Given the description of an element on the screen output the (x, y) to click on. 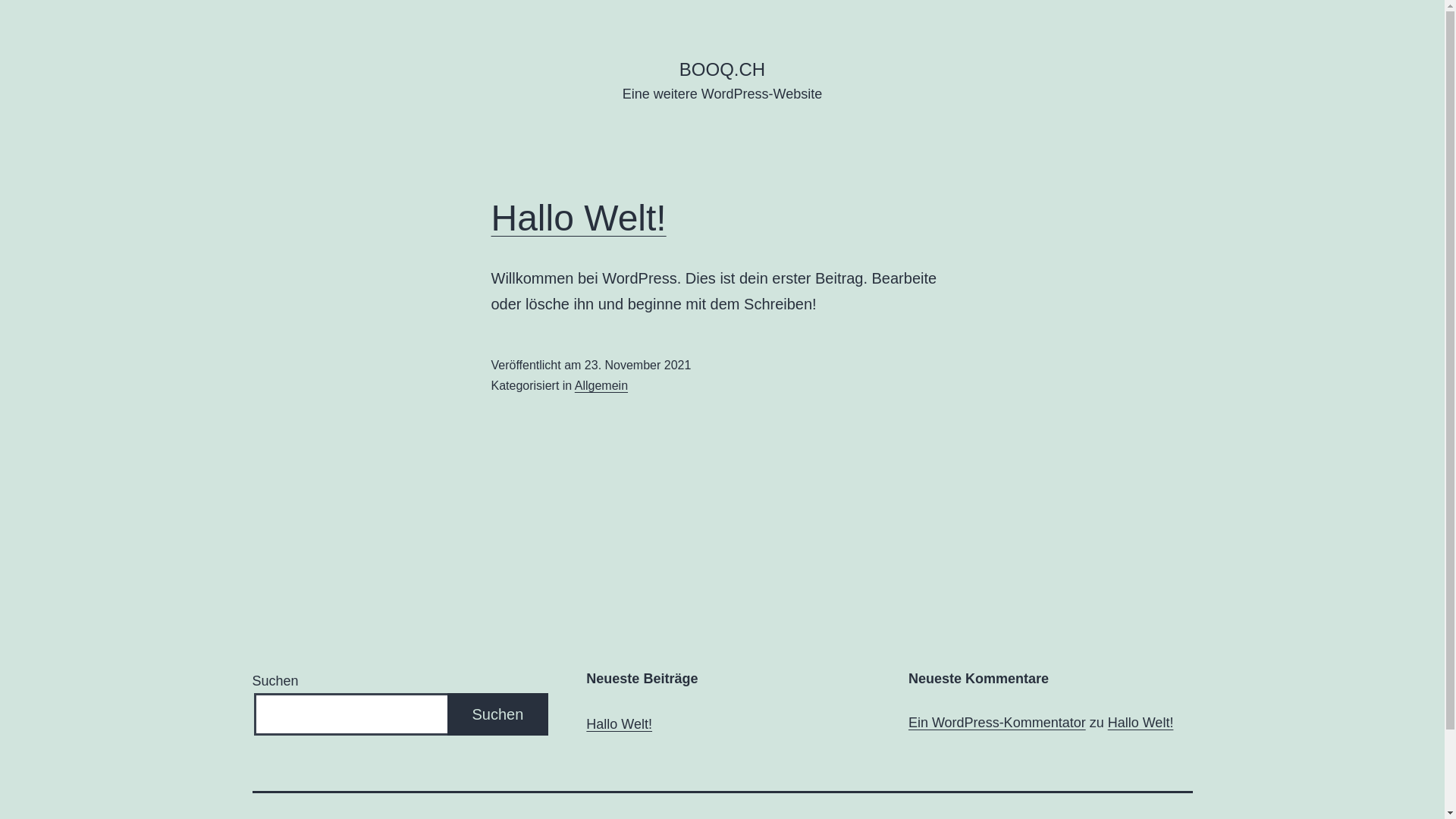
Hallo Welt! Element type: text (578, 217)
Ein WordPress-Kommentator Element type: text (996, 722)
Hallo Welt! Element type: text (1140, 722)
Hallo Welt! Element type: text (619, 724)
Suchen Element type: text (498, 714)
Allgemein Element type: text (600, 385)
